Given the description of an element on the screen output the (x, y) to click on. 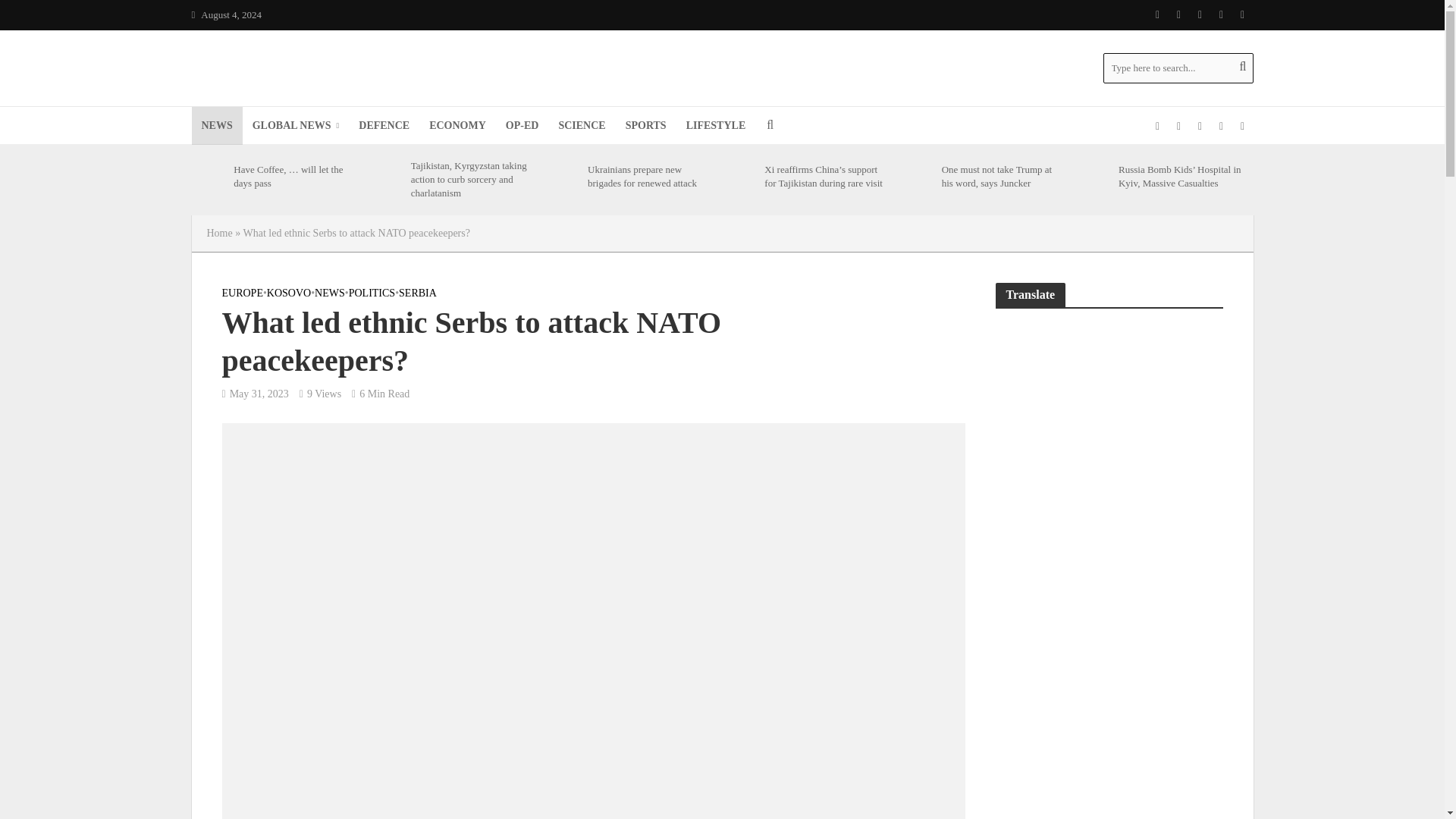
GLOBAL NEWS (296, 125)
One must not take Trump at his word, says Juncker (916, 176)
Ukrainians prepare new brigades for renewed attack (561, 176)
NEWS (215, 125)
